Given the description of an element on the screen output the (x, y) to click on. 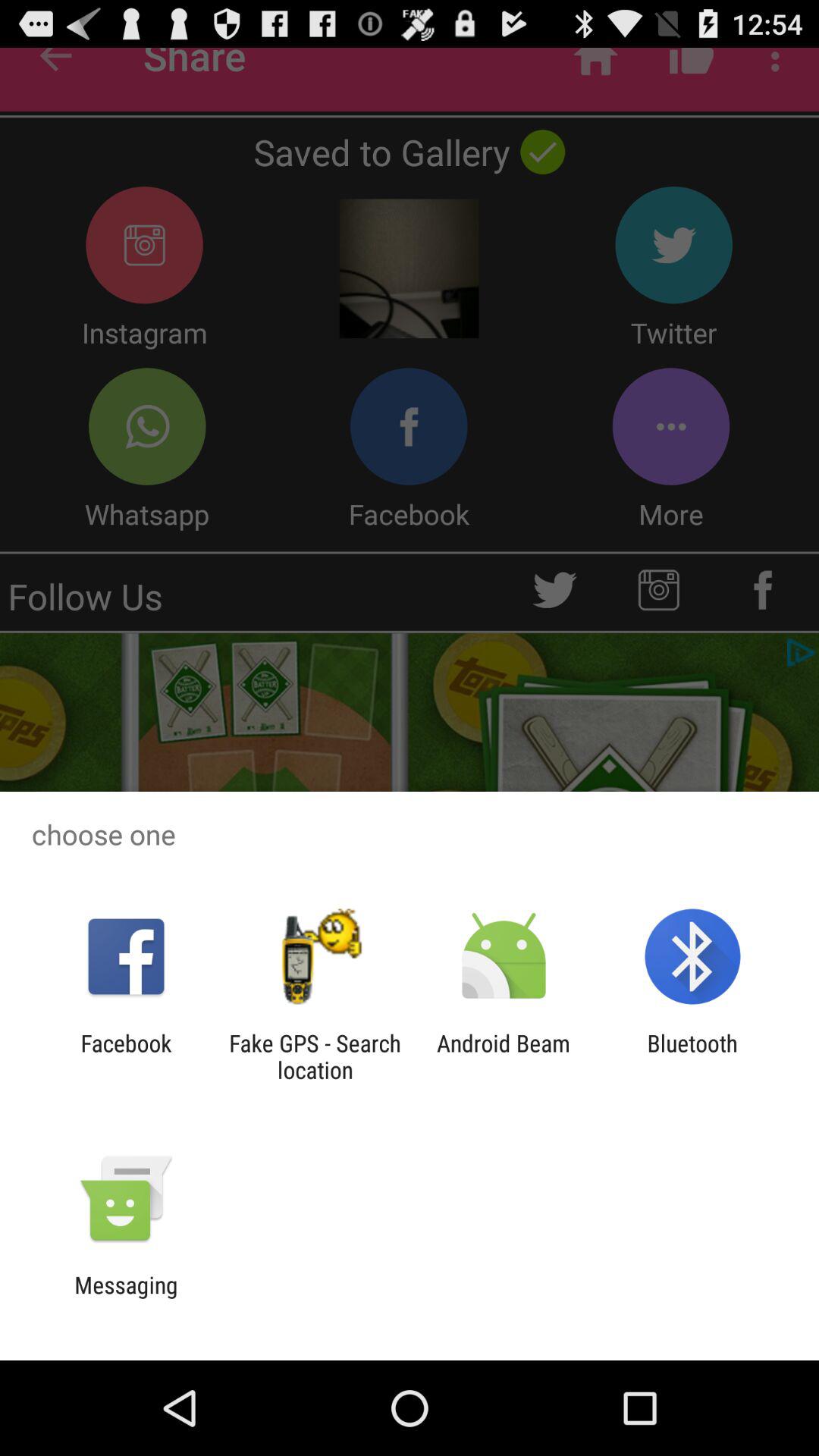
turn off the icon to the left of bluetooth app (503, 1056)
